Given the description of an element on the screen output the (x, y) to click on. 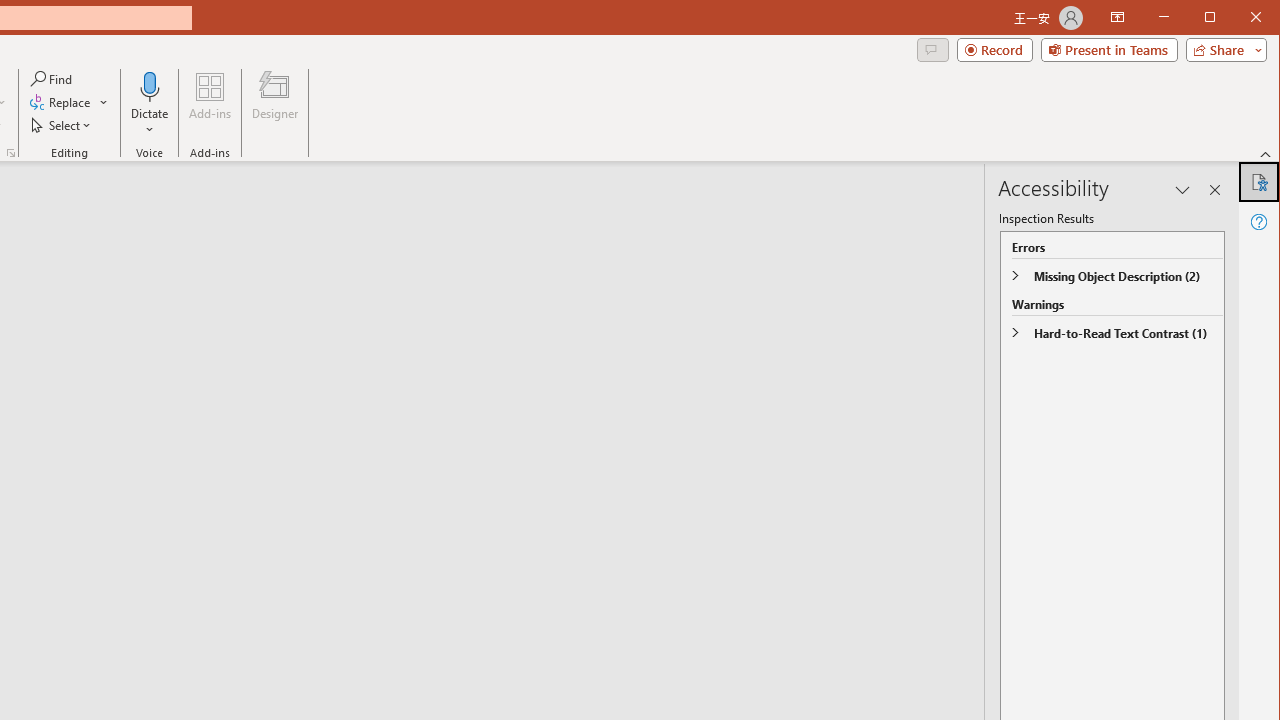
Format Object... (10, 152)
Ribbon Display Options (1117, 17)
Replace... (61, 101)
Minimize (1216, 18)
Collapse the Ribbon (1266, 154)
Select (62, 124)
Help (1258, 221)
Close pane (1215, 189)
Comments (932, 49)
